Given the description of an element on the screen output the (x, y) to click on. 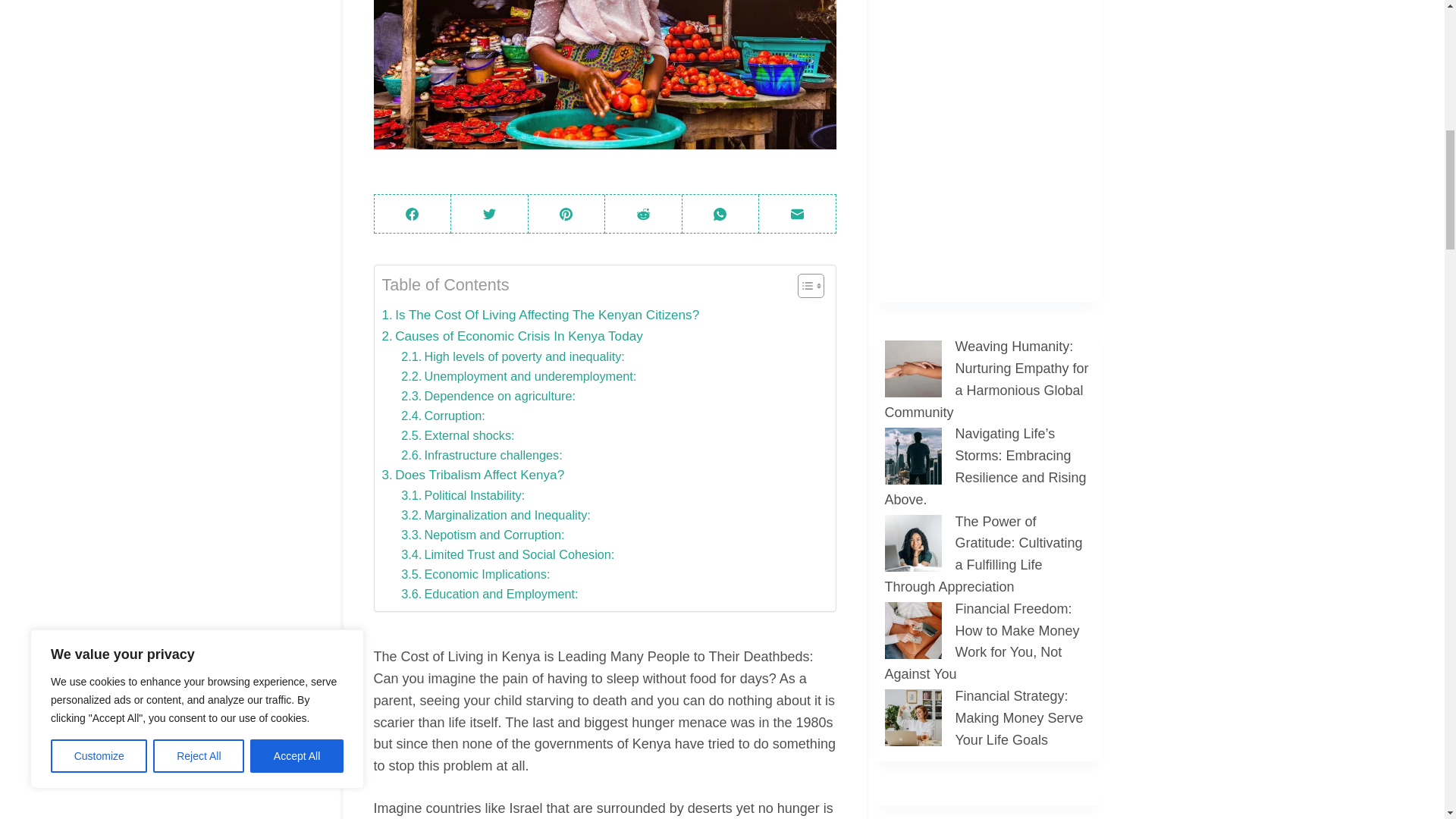
Causes of Economic Crisis In Kenya Today (512, 335)
Does Tribalism Affect Kenya? (472, 475)
Political Instability: (462, 495)
Unemployment and underemployment: (518, 375)
Dependence on agriculture: (488, 395)
Corruption: (442, 415)
External shocks: (457, 435)
Infrastructure challenges: (481, 455)
High levels of poverty and inequality: (512, 356)
Is The Cost Of Living Affecting The Kenyan Citizens? (540, 314)
